Given the description of an element on the screen output the (x, y) to click on. 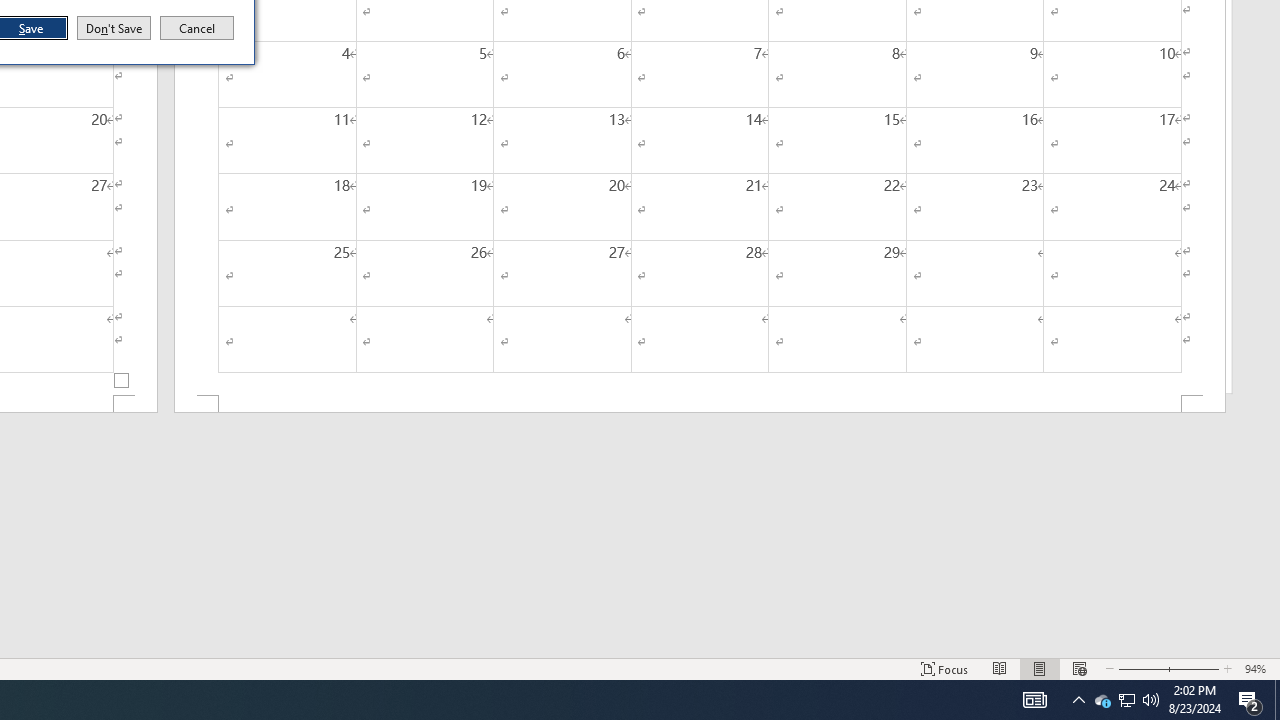
Don't Save (113, 27)
Show desktop (1277, 699)
User Promoted Notification Area (1126, 699)
Q2790: 100% (1151, 699)
Cancel (197, 27)
Footer -Section 2- (700, 404)
Notification Chevron (1126, 699)
